Given the description of an element on the screen output the (x, y) to click on. 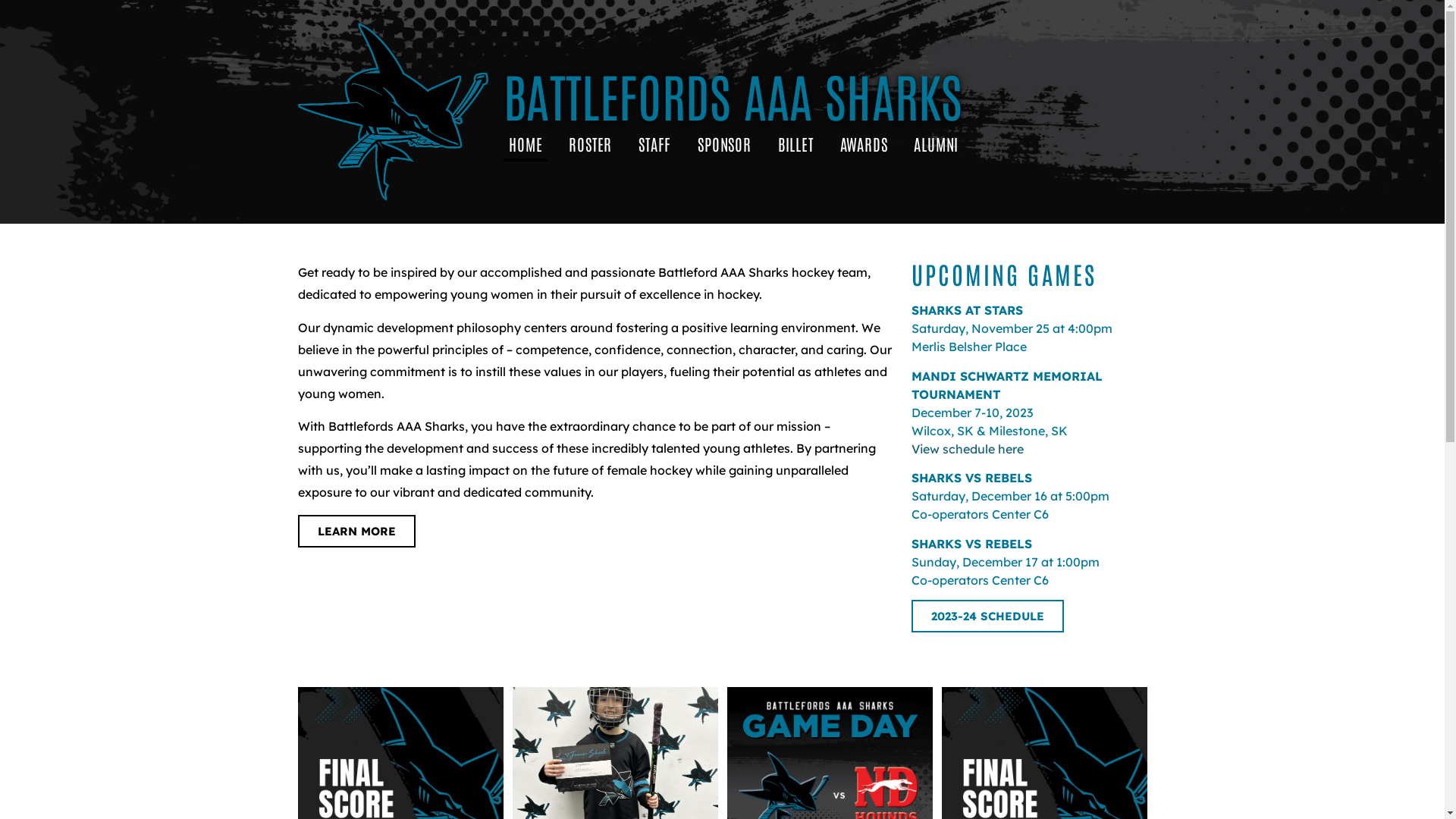
BILLET Element type: text (795, 143)
View schedule here Element type: text (967, 448)
ALUMNI Element type: text (935, 143)
STAFF Element type: text (654, 143)
AWARDS Element type: text (863, 143)
ROSTER Element type: text (590, 143)
HOME Element type: text (525, 143)
2023-24 SCHEDULE Element type: text (987, 615)
SPONSOR Element type: text (724, 143)
LEARN MORE Element type: text (355, 530)
